Given the description of an element on the screen output the (x, y) to click on. 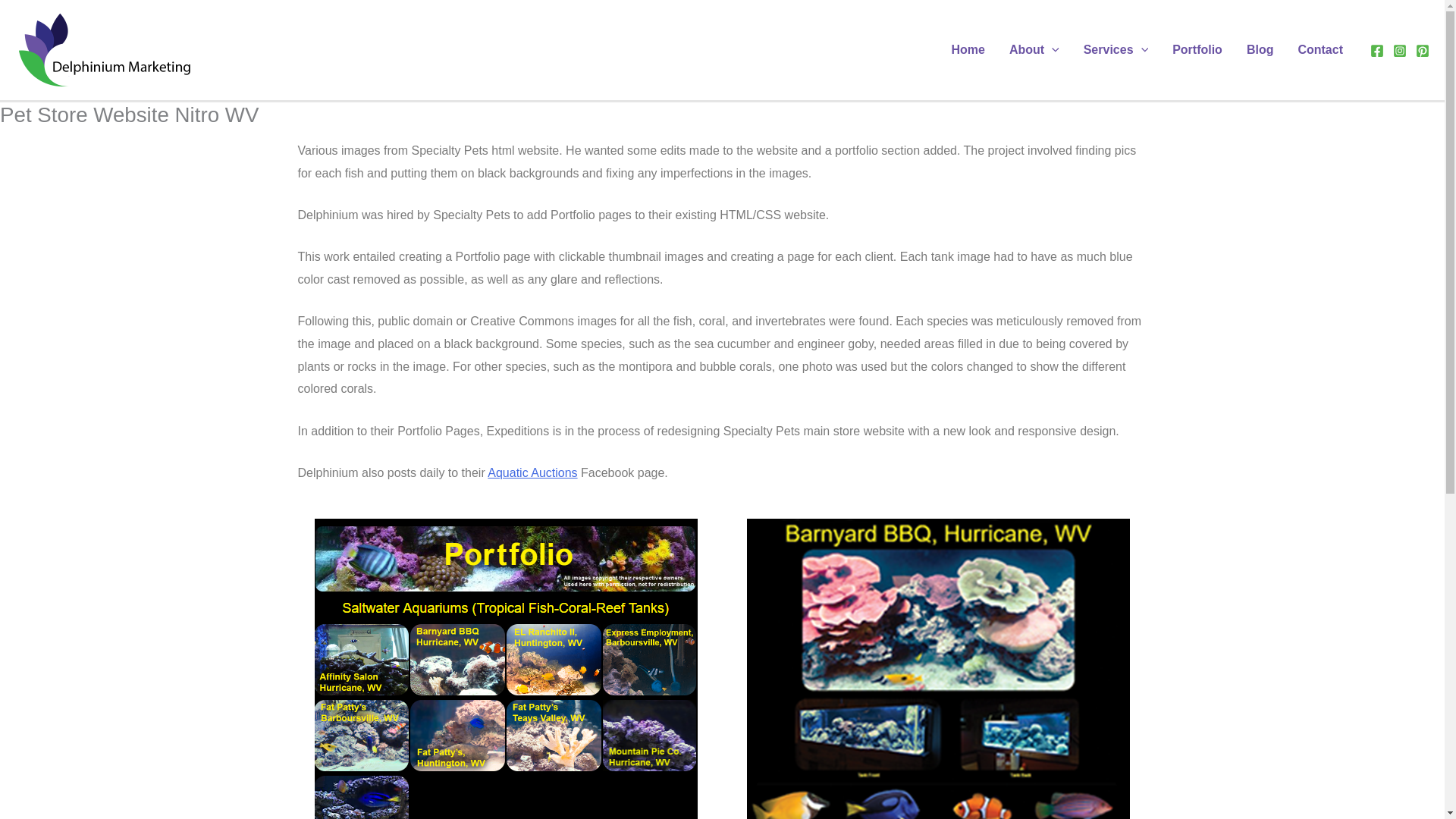
Contact (1320, 49)
Home (967, 49)
Portfolio (1197, 49)
Aquatic Auctions (531, 472)
Services (1115, 49)
About (1034, 49)
